Given the description of an element on the screen output the (x, y) to click on. 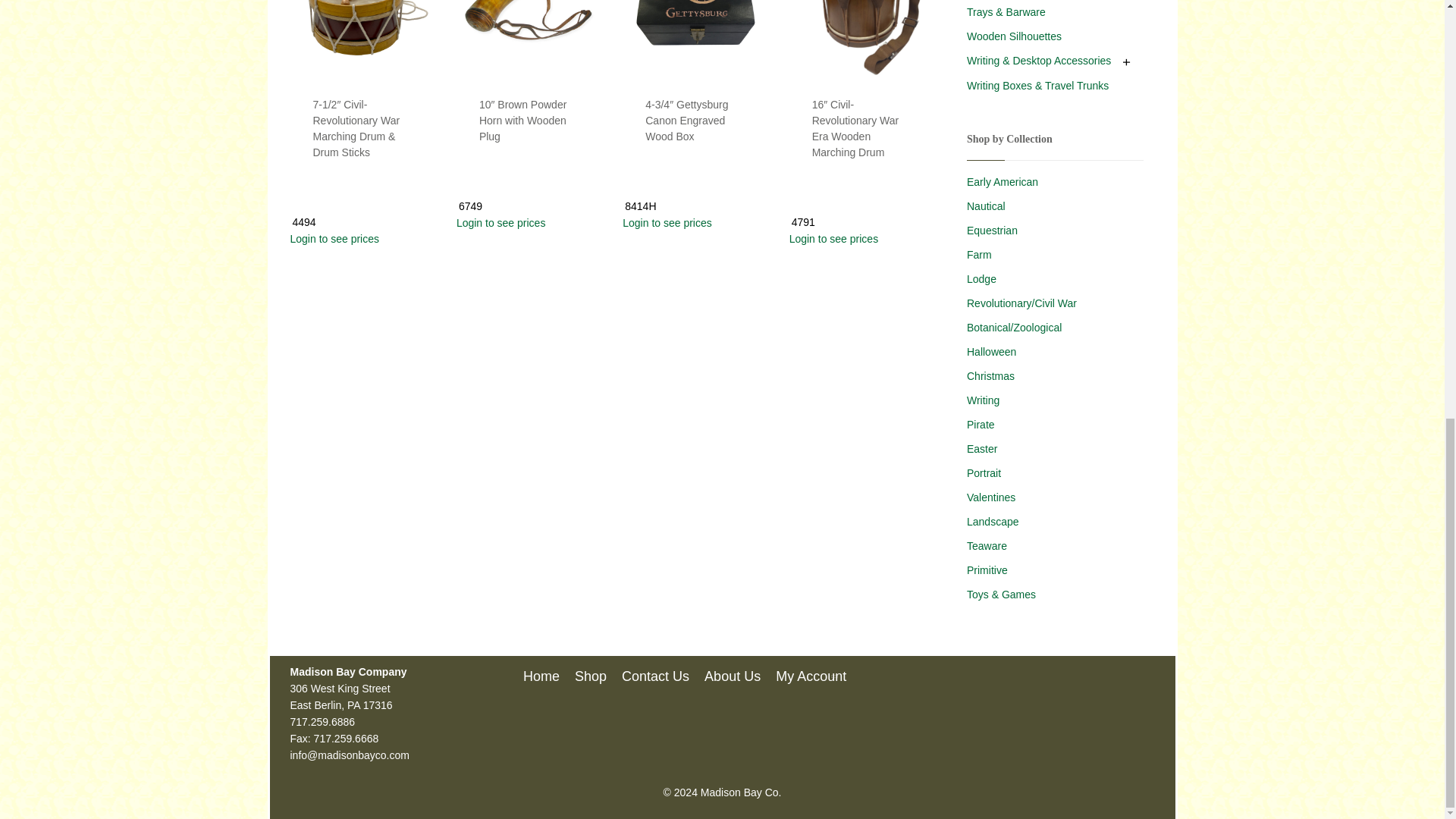
Login to see prices (360, 238)
Login to see prices (528, 222)
Login to see prices (694, 222)
